Given the description of an element on the screen output the (x, y) to click on. 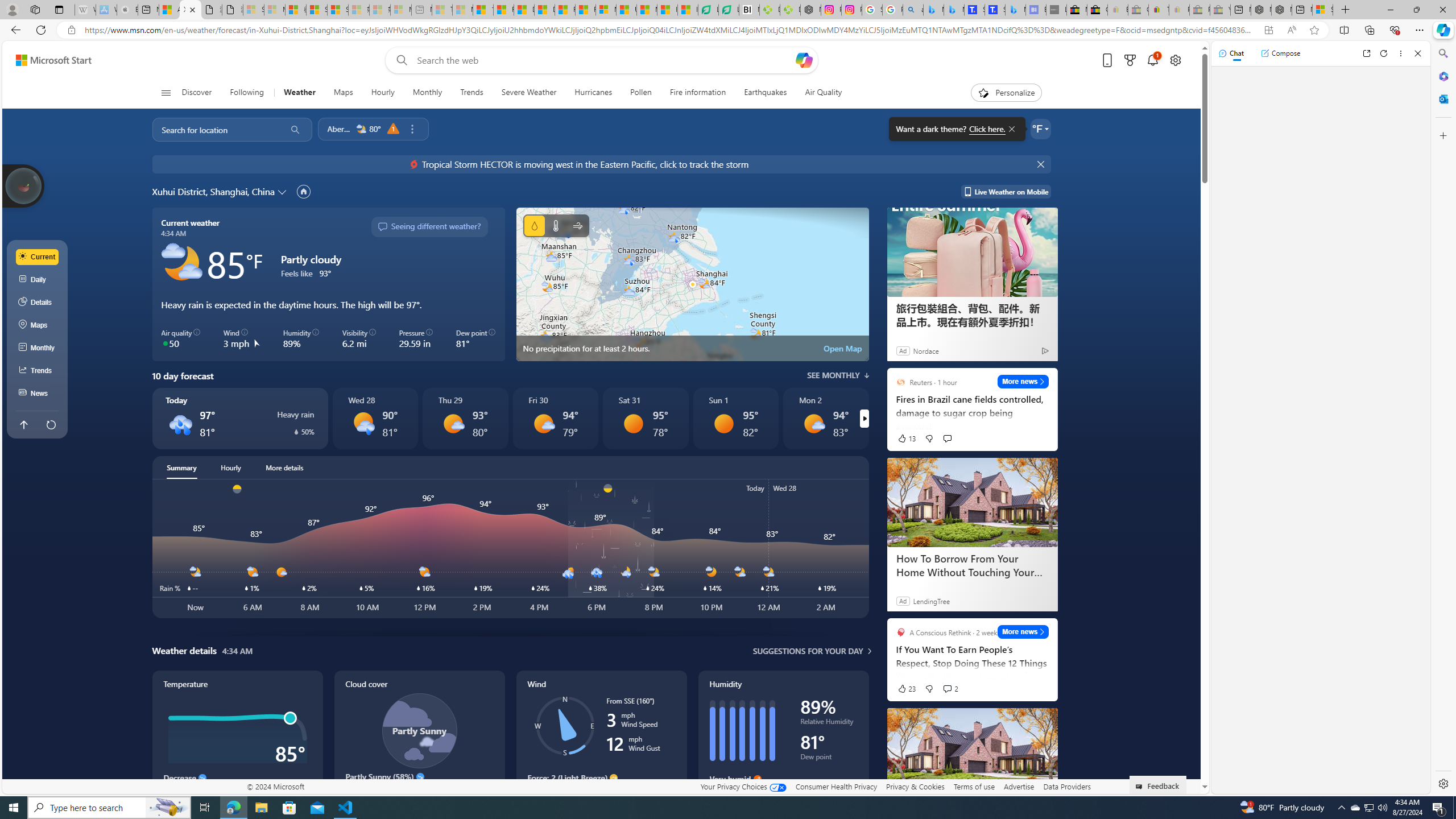
Skip to content (49, 59)
Severe Weather (528, 92)
More details (284, 467)
Your Privacy Choices (743, 786)
Advertise (1019, 786)
Class: aqiColorCycle-DS-EntryPoint1-1 (164, 343)
Outlook (1442, 98)
Increasing with a peak of 90% at 5:00 AM. (783, 795)
Wind 3 mph (241, 338)
Refresh this page (50, 424)
